Given the description of an element on the screen output the (x, y) to click on. 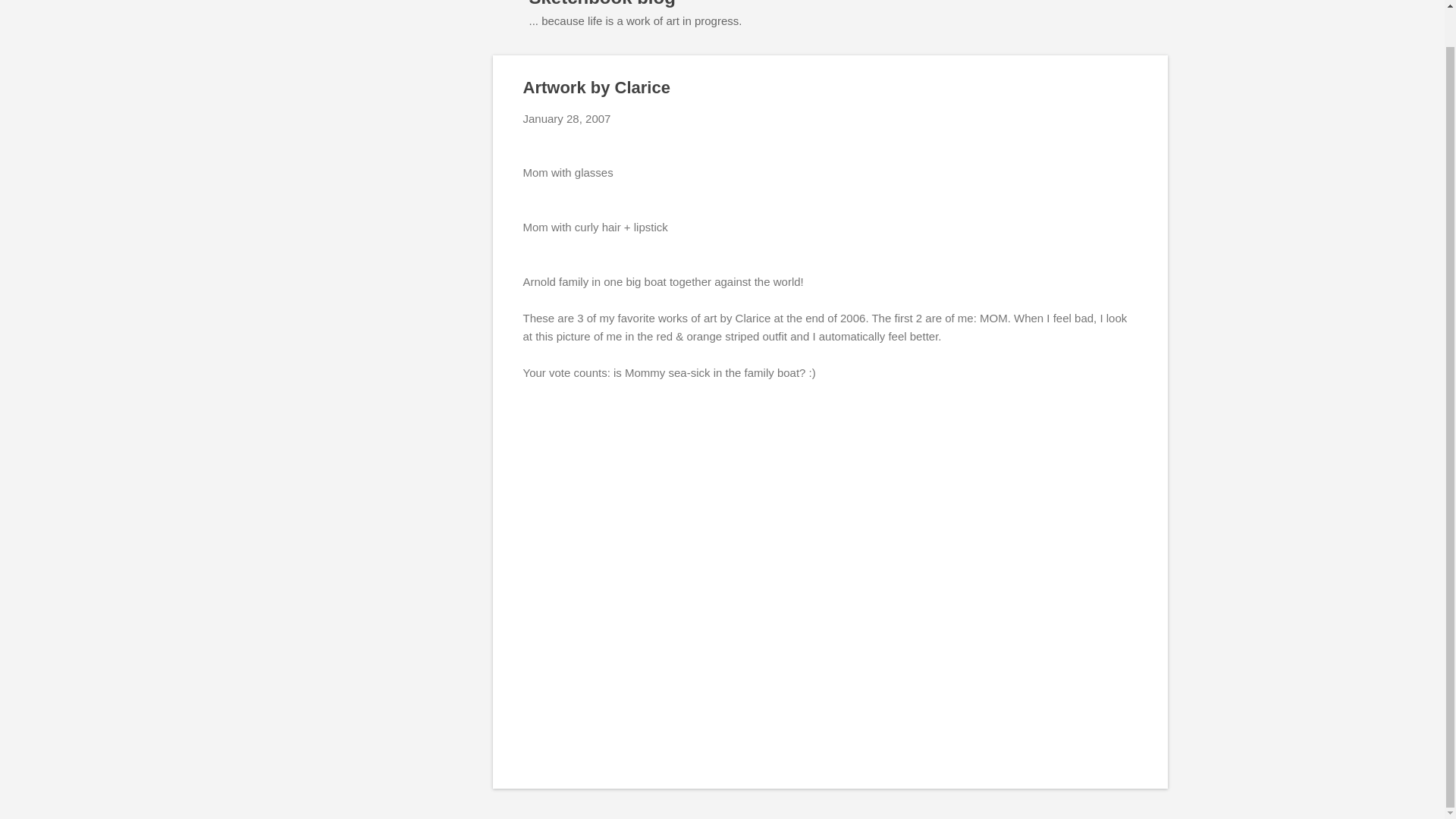
Sketchbook blog (602, 3)
permanent link (566, 118)
January 28, 2007 (566, 118)
